Given the description of an element on the screen output the (x, y) to click on. 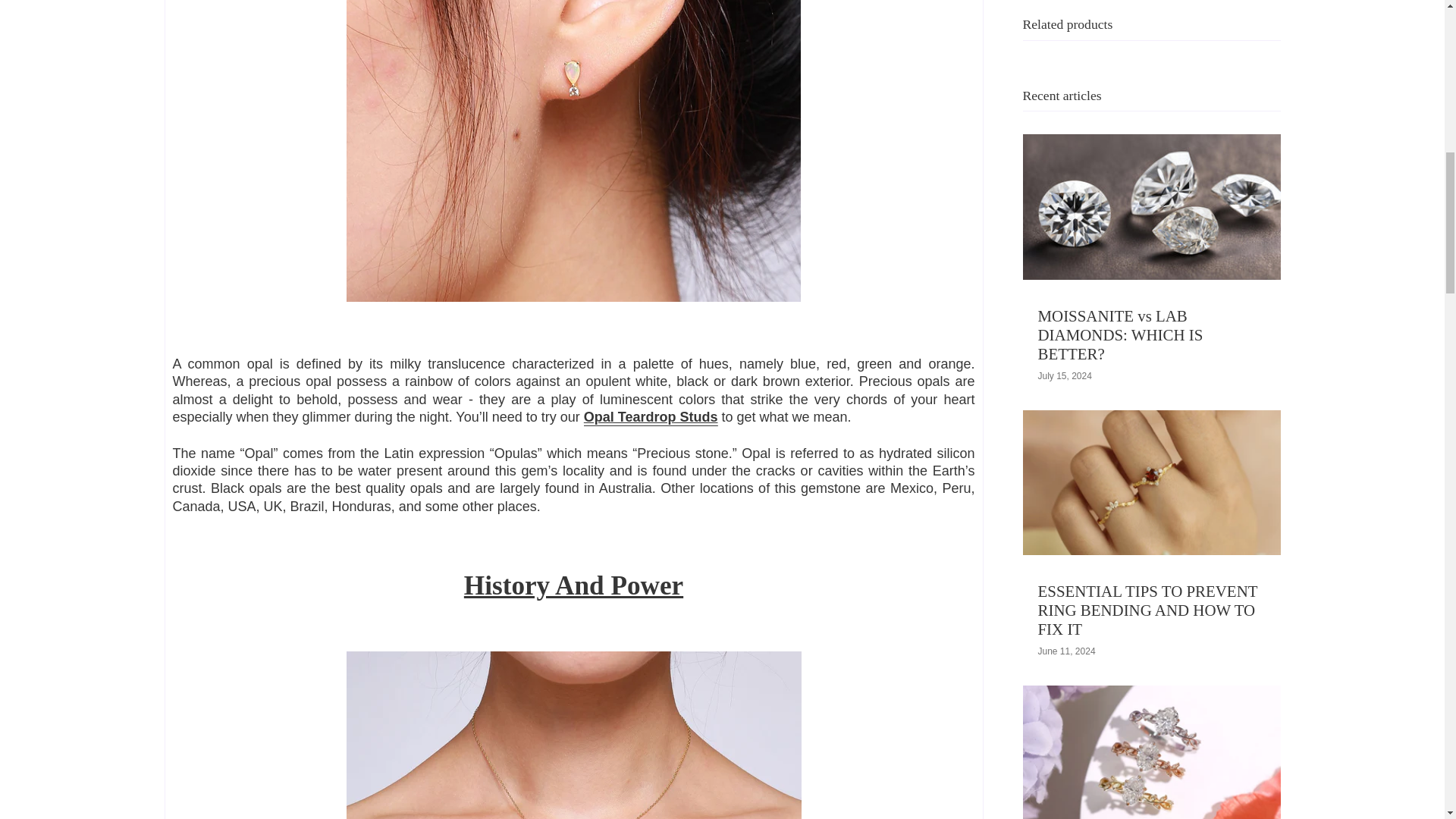
WHY CHOOSE A MOISSANITE ENGAGEMENT RING (1145, 461)
ESSENTIAL TIPS TO PREVENT RING BENDING AND HOW TO FIX IT (1146, 195)
